Given the description of an element on the screen output the (x, y) to click on. 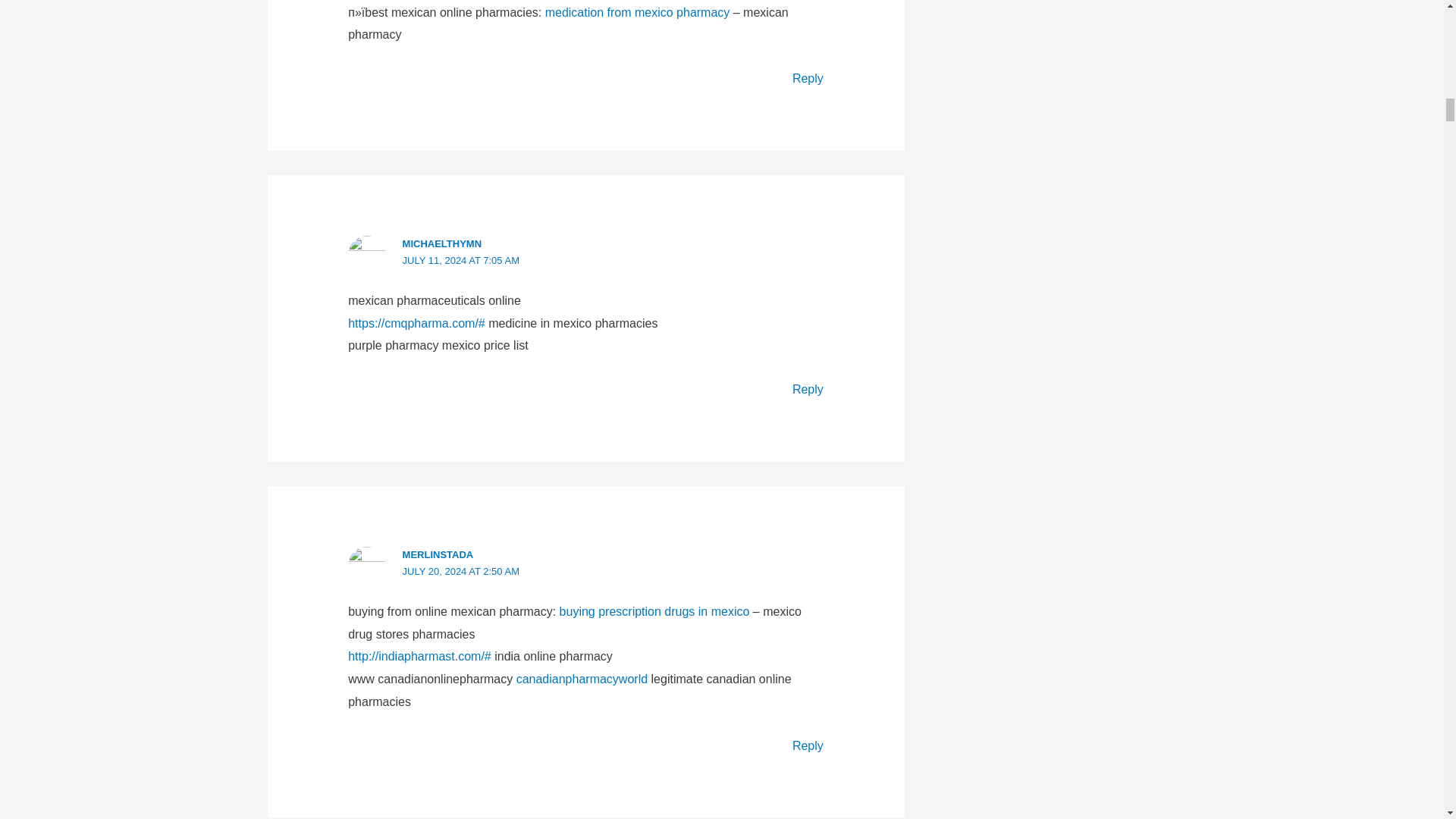
Reply (808, 744)
medication from mexico pharmacy (637, 11)
Reply (808, 389)
buying prescription drugs in mexico (654, 611)
JULY 11, 2024 AT 7:05 AM (461, 260)
JULY 20, 2024 AT 2:50 AM (461, 571)
canadianpharmacyworld (581, 678)
Reply (808, 78)
